Given the description of an element on the screen output the (x, y) to click on. 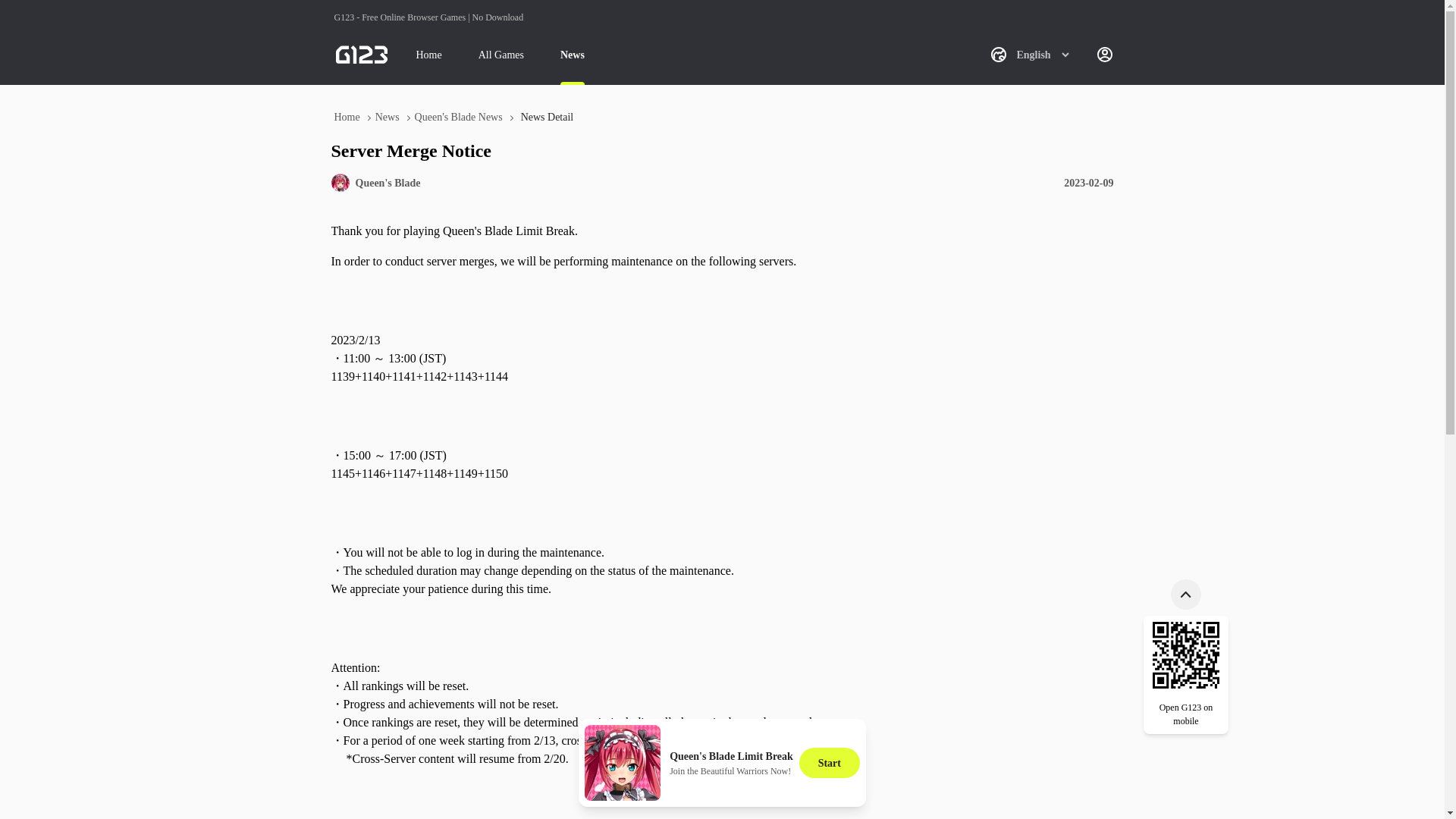
Home (346, 116)
Queen's Blade (387, 182)
News (387, 116)
Queen's Blade News (458, 116)
News Detail (547, 116)
